Given the description of an element on the screen output the (x, y) to click on. 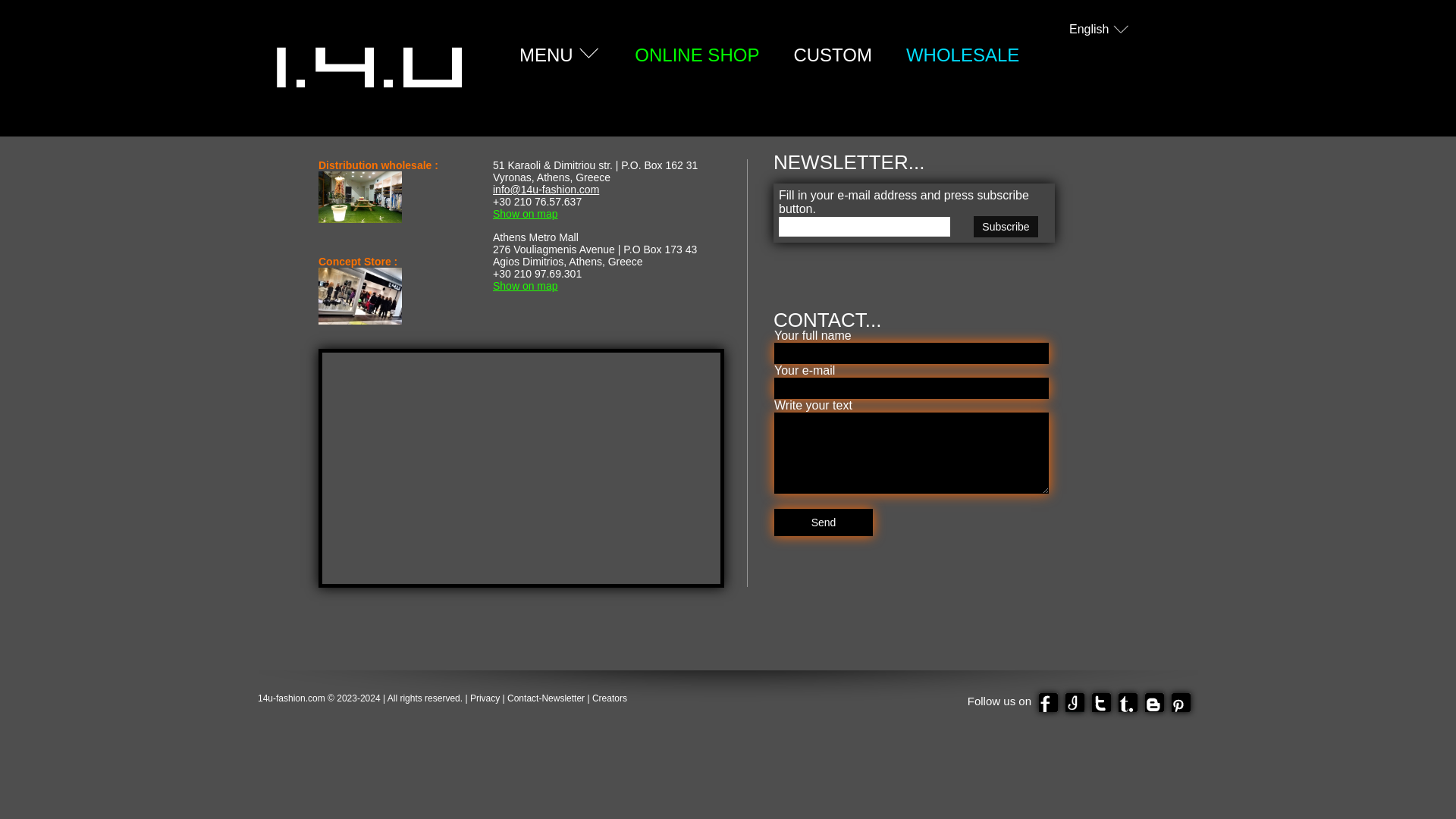
Show on map Element type: text (525, 285)
Creators Element type: text (609, 698)
info@14u-fashion.com Element type: text (545, 189)
Show on map Element type: text (525, 213)
Send Element type: text (823, 522)
CUSTOM Element type: text (832, 54)
ONLINE SHOP Element type: text (696, 54)
Subscribe Element type: text (1005, 226)
Privacy Element type: text (484, 698)
Contact-Newsletter Element type: text (545, 698)
WHOLESALE Element type: text (962, 54)
